Given the description of an element on the screen output the (x, y) to click on. 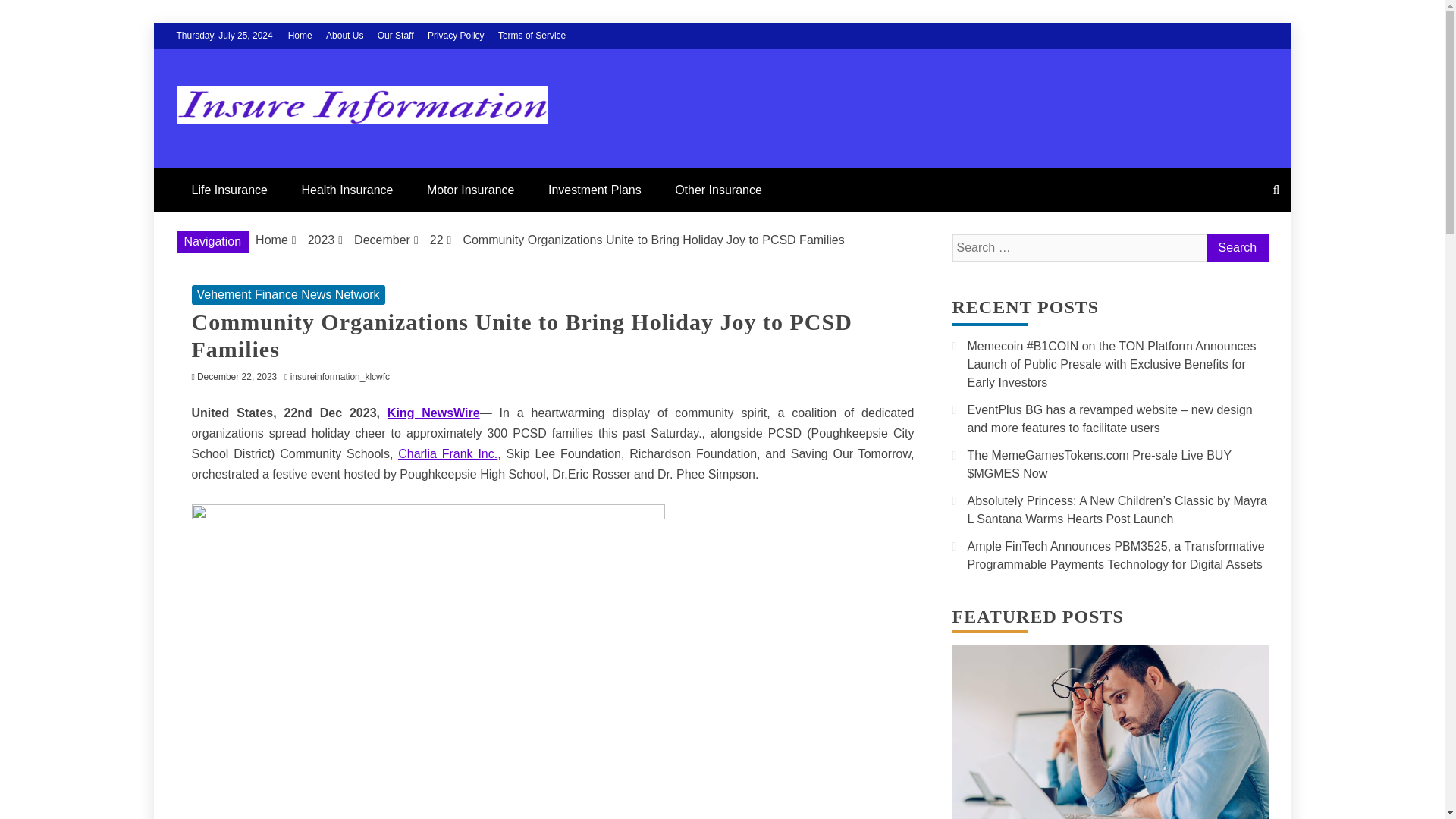
Life Insurance (229, 189)
Vehement Finance News Network (287, 294)
Home (272, 239)
Our Staff (395, 35)
Other Insurance (718, 189)
King NewsWire (433, 412)
Charlia Frank Inc. (447, 453)
Investment Plans (594, 189)
About Us (344, 35)
Health Insurance (346, 189)
Search (1236, 247)
December 22, 2023 (236, 376)
2023 (320, 239)
December (381, 239)
Search (1236, 247)
